Given the description of an element on the screen output the (x, y) to click on. 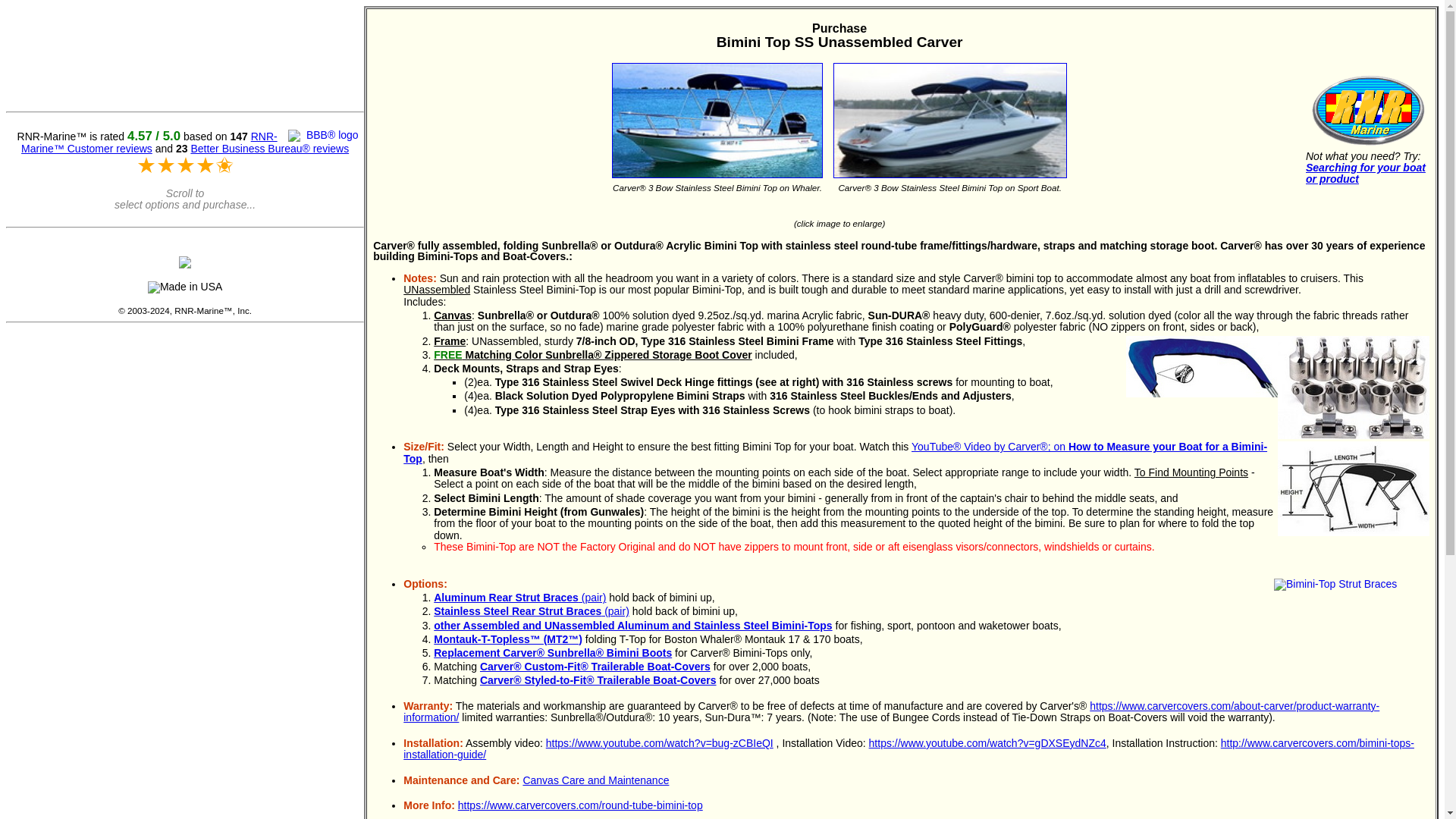
title2 (949, 119)
Click to Enbnlarge (1353, 488)
Please click to read our Customer Reviews (149, 142)
Searching for your boat or product (1365, 173)
